Given the description of an element on the screen output the (x, y) to click on. 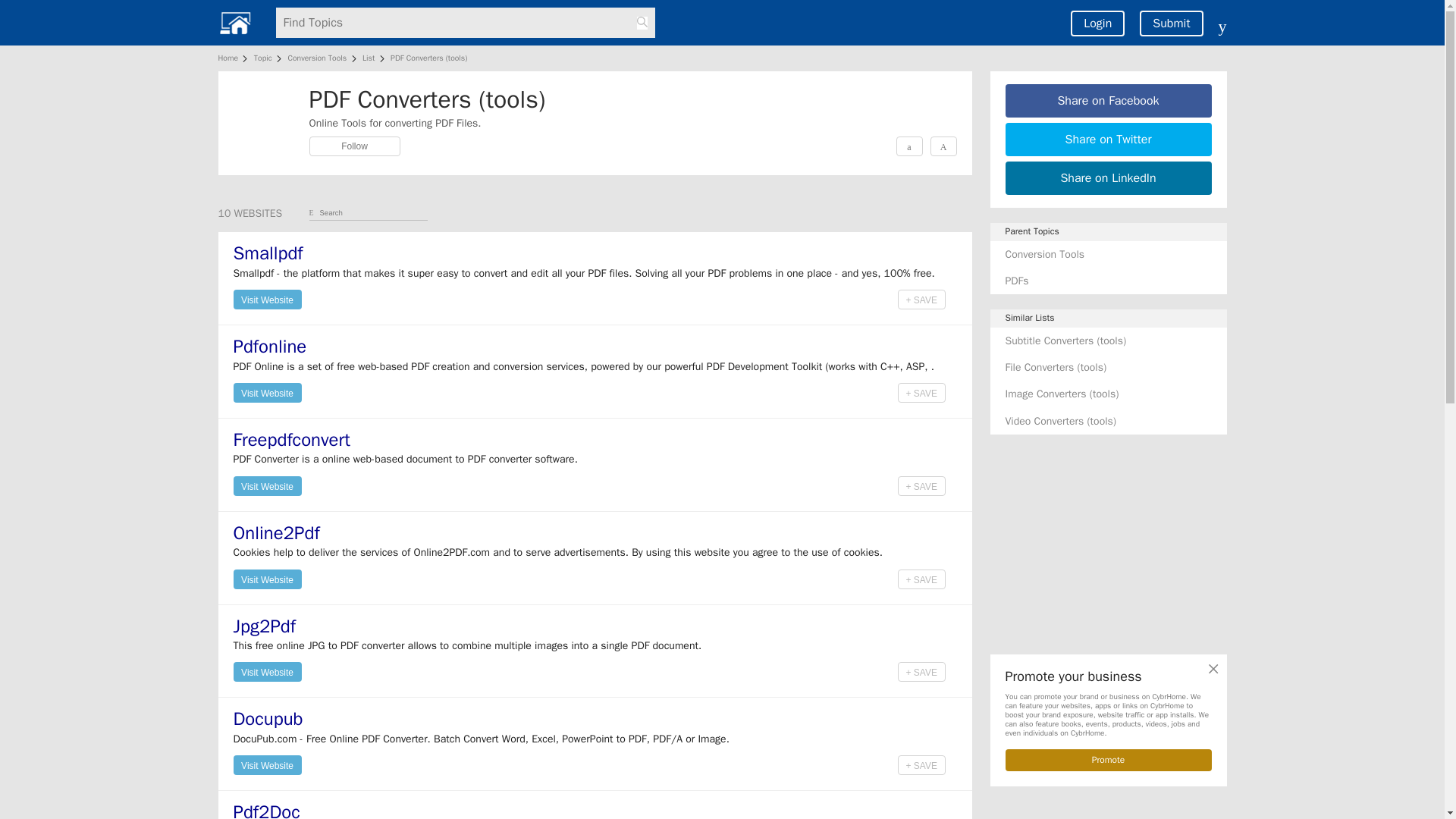
Visit Website (266, 764)
Pdf2Doc (265, 809)
Conversion Tools (316, 57)
Visit Website (266, 298)
Advertisement (1108, 544)
Visit Website (266, 485)
Visit Website (266, 391)
Visit Website (266, 670)
Visit Website (266, 764)
Login (1097, 23)
Home (230, 57)
Visit Website (266, 578)
Freepdfconvert (291, 439)
Visit Website (266, 299)
Visit Website (266, 392)
